Given the description of an element on the screen output the (x, y) to click on. 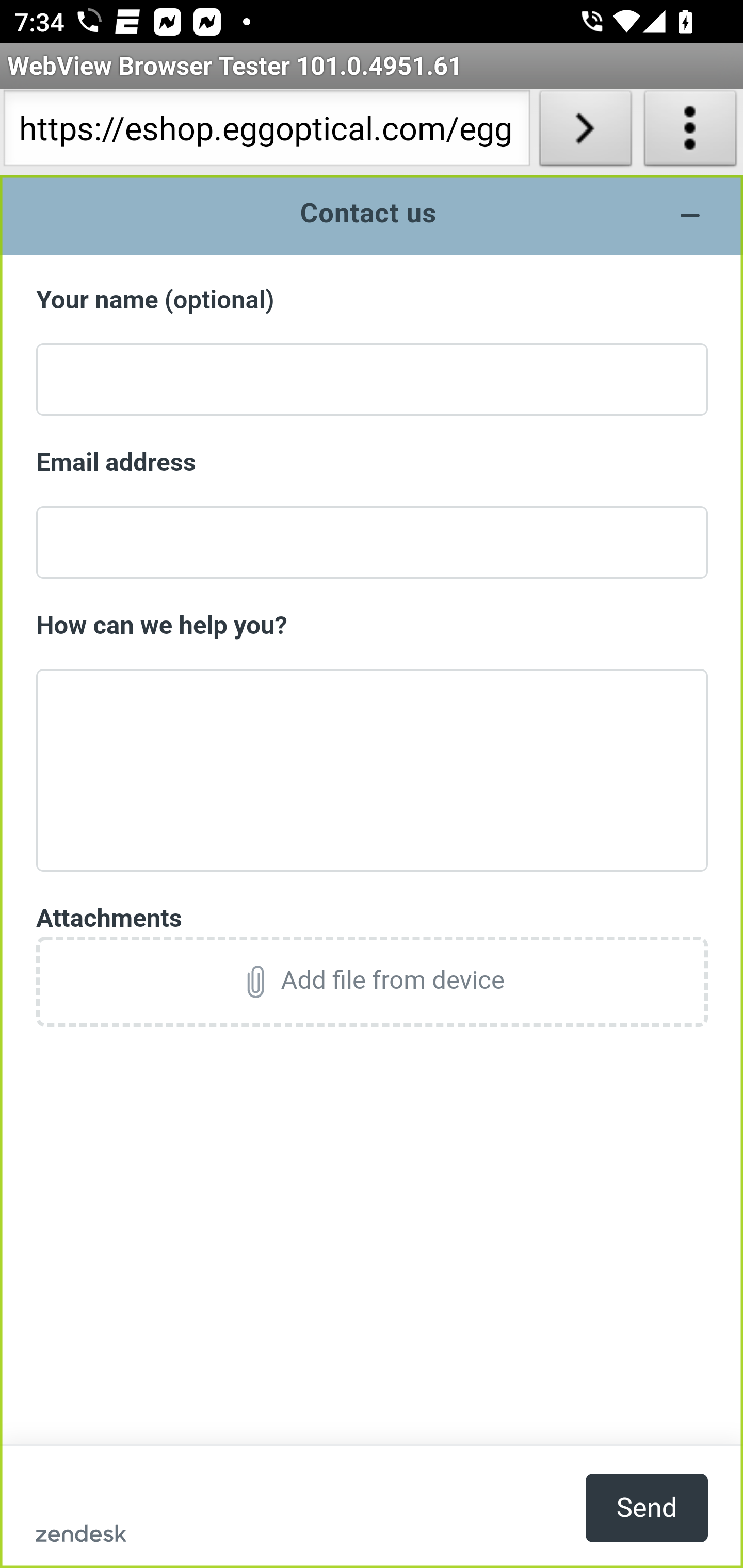
Load URL (585, 132)
About WebView (690, 132)
Minimize widget (690, 214)
Your name (optional) (372, 299)
Email address (372, 462)
How can we help you? (372, 625)
Attachments (372, 917)
Attachments (372, 980)
Send (647, 1507)
zendesk (81, 1533)
